Given the description of an element on the screen output the (x, y) to click on. 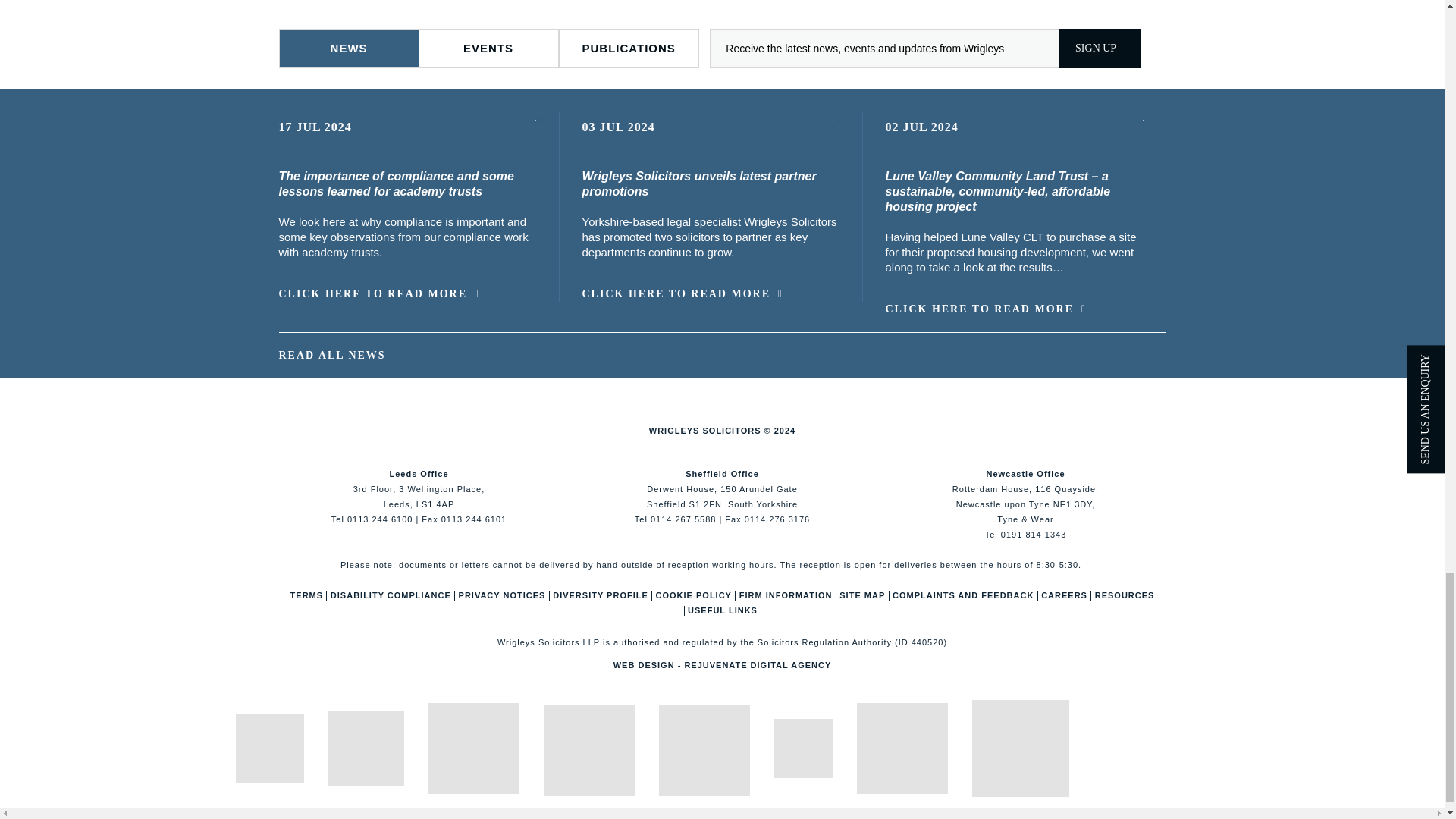
Web Design Leeds - Rejuvenate Productions (721, 664)
Living Wage Logo (902, 747)
Disability Confident Logo (1020, 748)
Top 25 Law Firms 2023 (802, 748)
Top Ranked Chambers UK 2023- Leading Firm (703, 750)
Chambers High Net Worth (588, 750)
Lexcel Practice Management Standard. Law Society Accredited (473, 747)
